Given the description of an element on the screen output the (x, y) to click on. 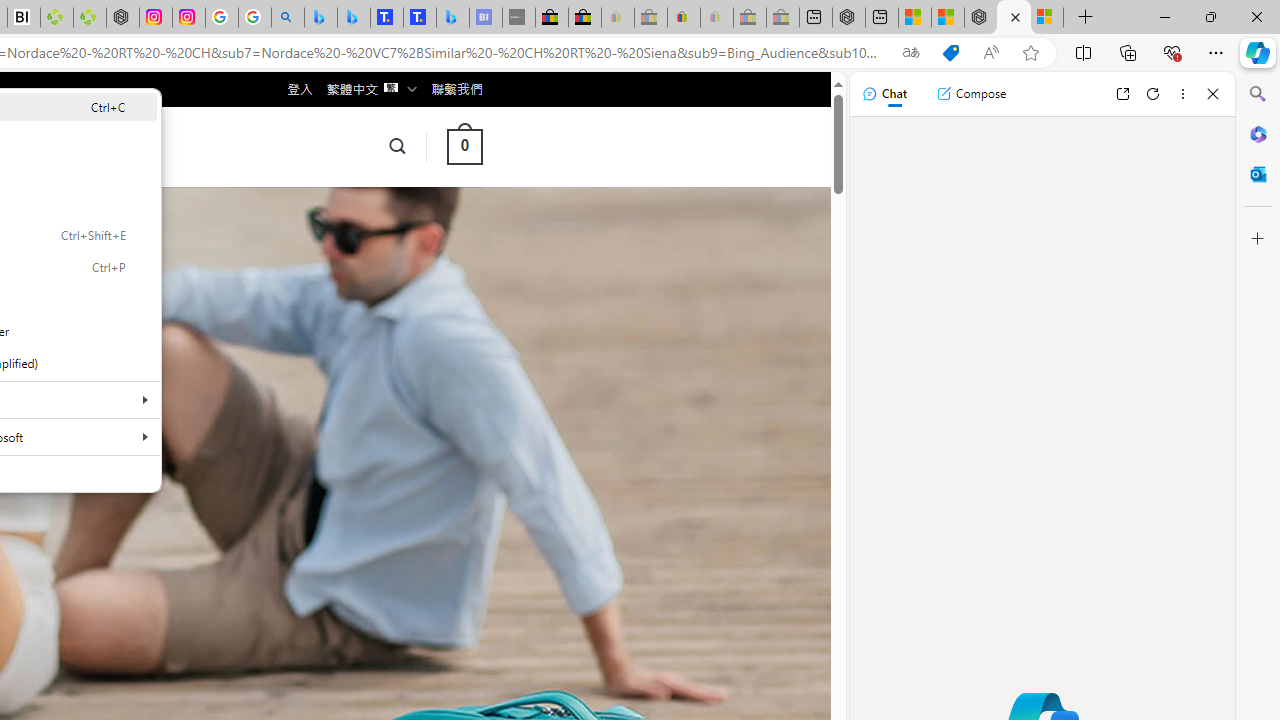
Safety in Our Products - Google Safety Center (222, 17)
alabama high school quarterback dies - Search (287, 17)
This site has coupons! Shopping in Microsoft Edge (950, 53)
Yard, Garden & Outdoor Living - Sleeping (782, 17)
Nordace - Nordace Edin Collection (123, 17)
Threats and offensive language policy | eBay (684, 17)
The importance of being lazy (947, 17)
